Given the description of an element on the screen output the (x, y) to click on. 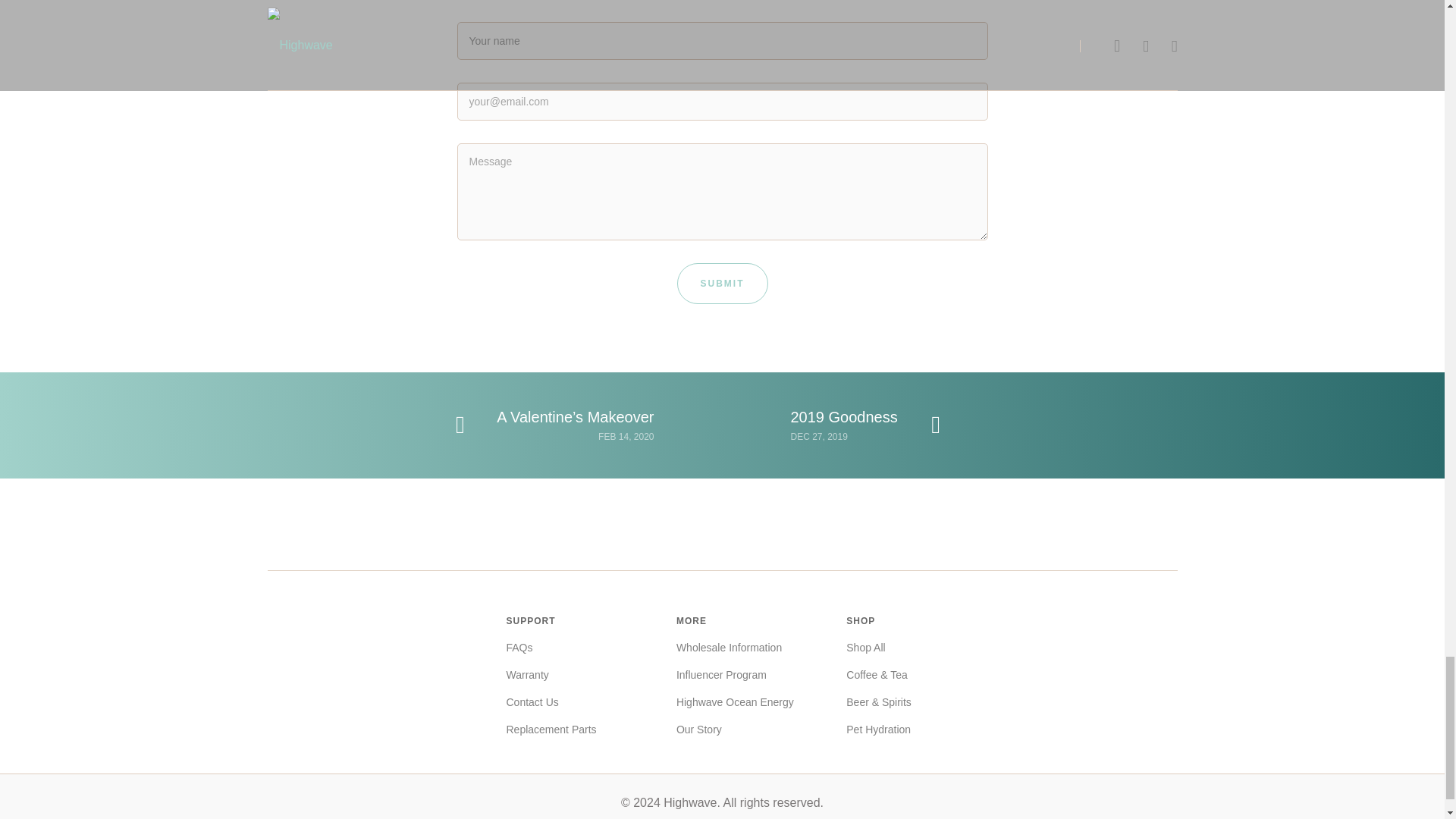
Contact Us (532, 701)
Our Story (699, 729)
Influencer Program (722, 674)
Subscribe (1005, 777)
Highwave Ocean Energy (735, 701)
Pet Hydration (878, 729)
Submit (722, 282)
FAQs (519, 647)
Warranty (527, 674)
Shop All (865, 647)
